Given the description of an element on the screen output the (x, y) to click on. 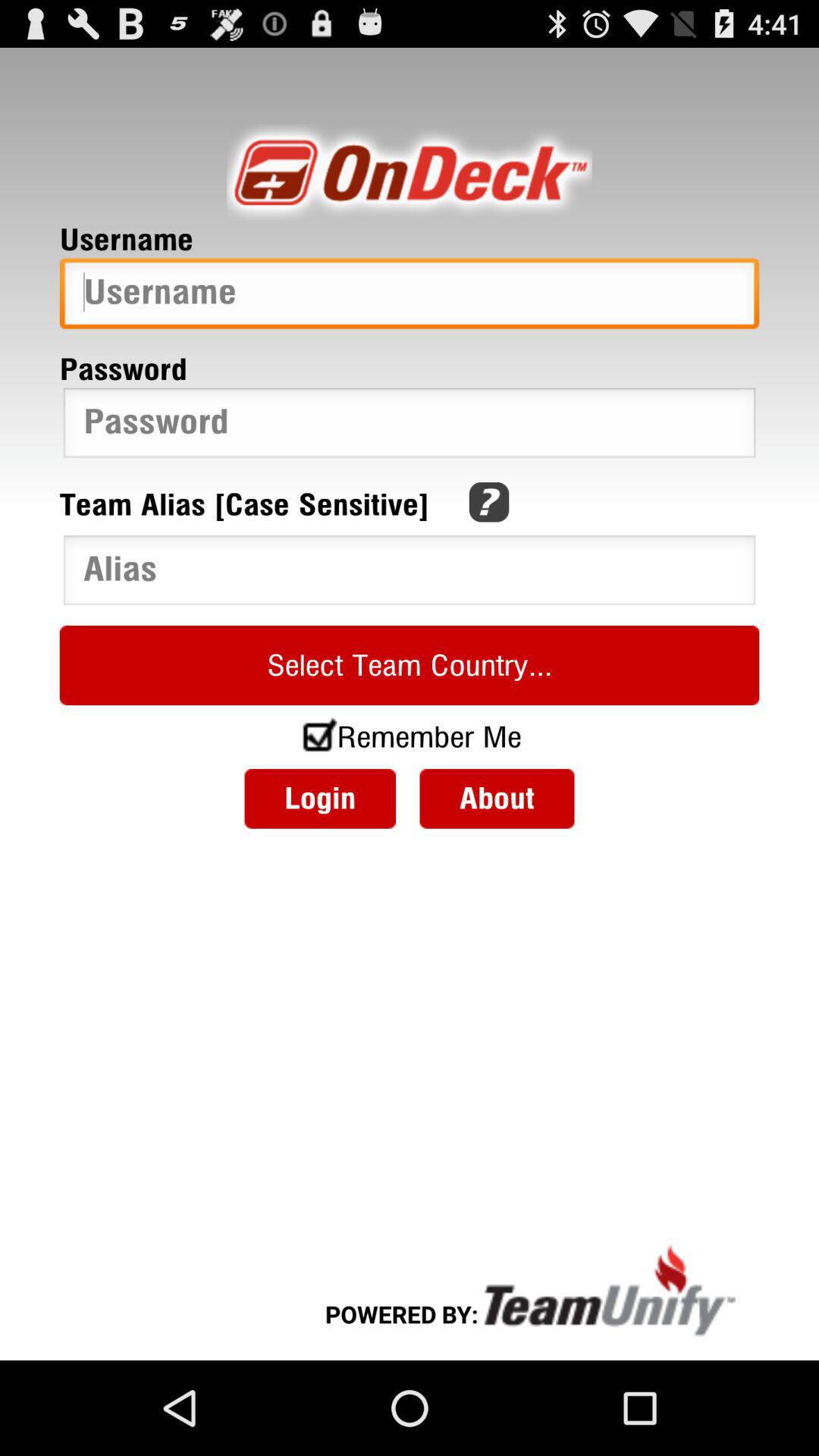
password field (409, 426)
